Given the description of an element on the screen output the (x, y) to click on. 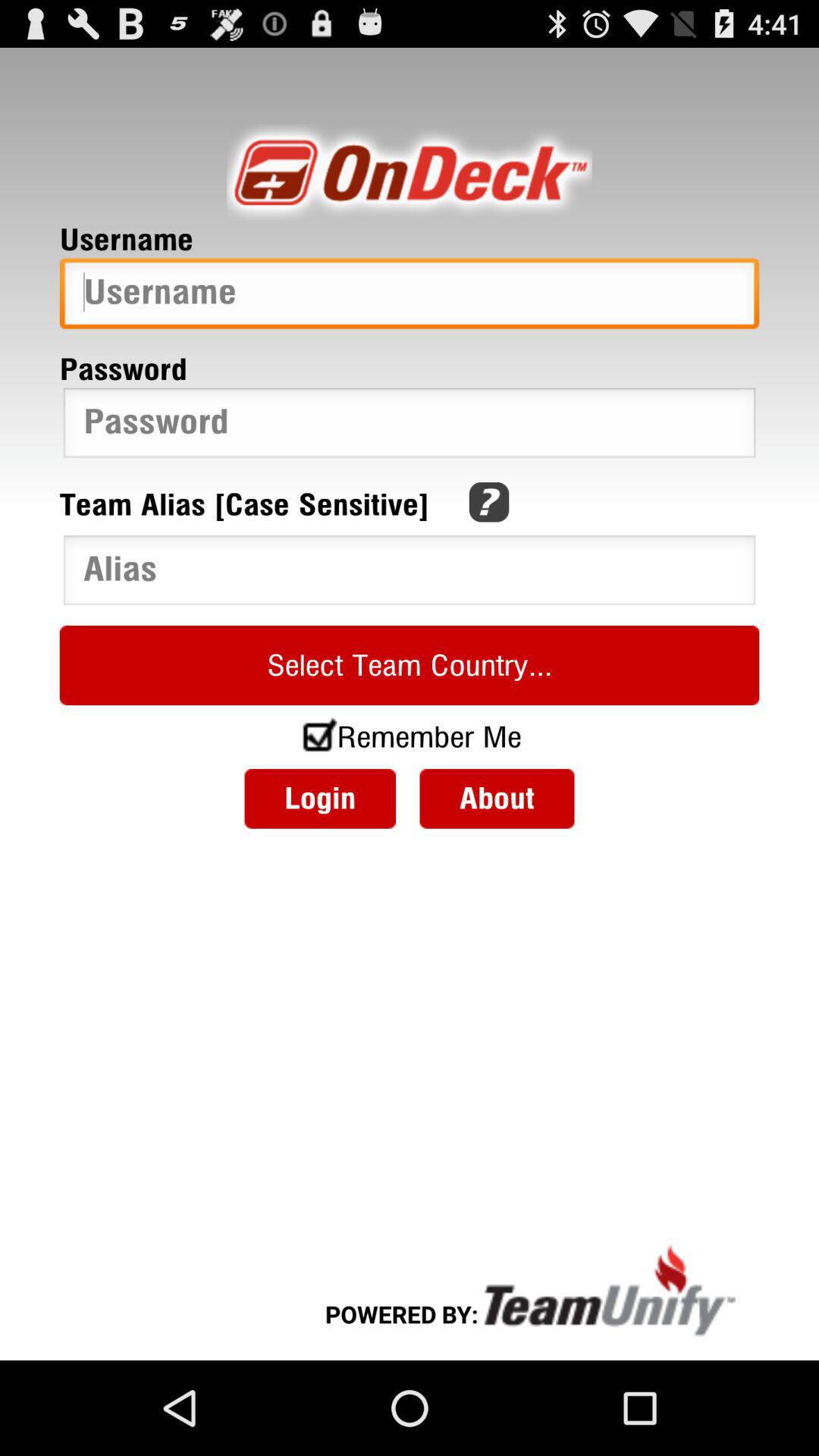
password field (409, 426)
